Given the description of an element on the screen output the (x, y) to click on. 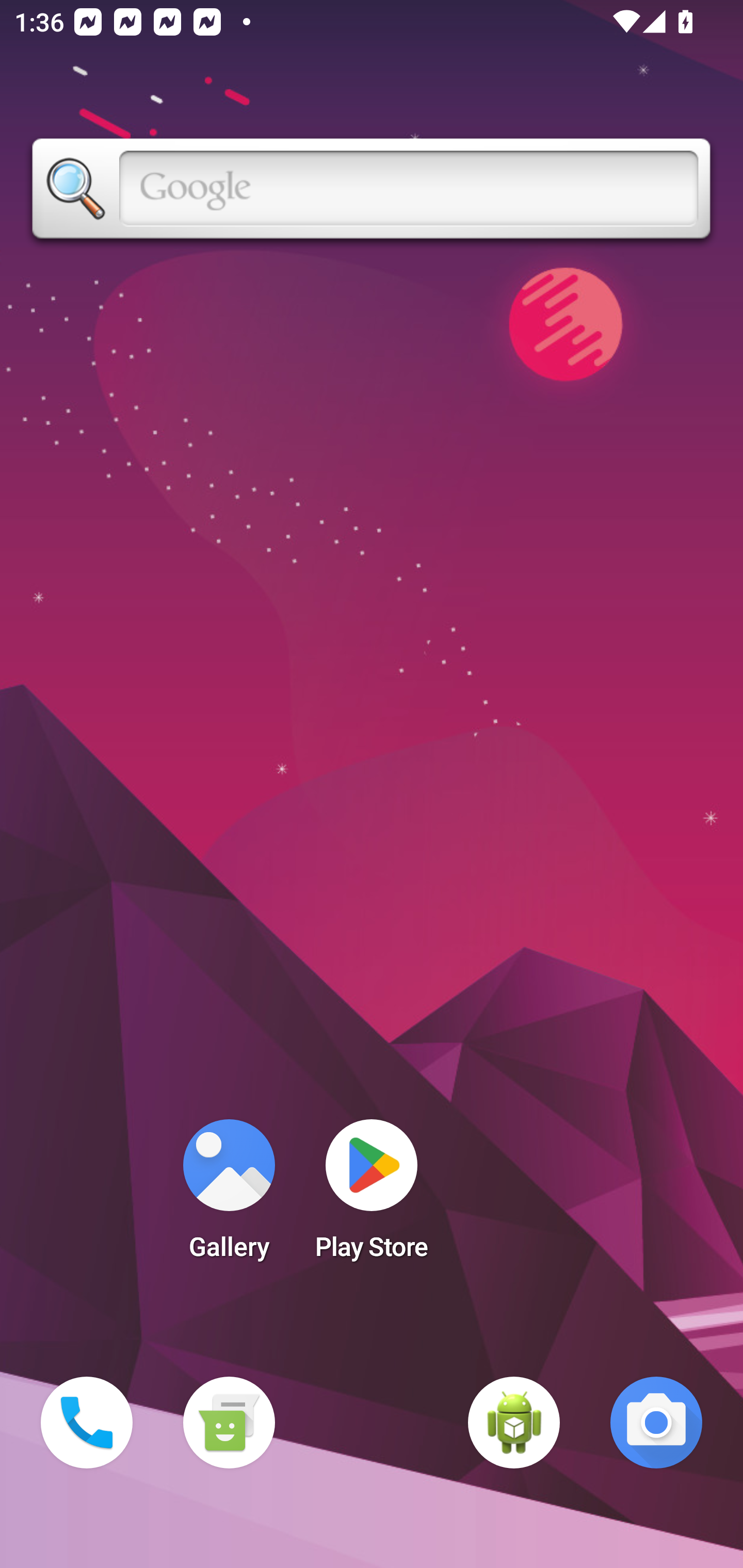
Gallery (228, 1195)
Play Store (371, 1195)
Phone (86, 1422)
Messaging (228, 1422)
WebView Browser Tester (513, 1422)
Camera (656, 1422)
